Given the description of an element on the screen output the (x, y) to click on. 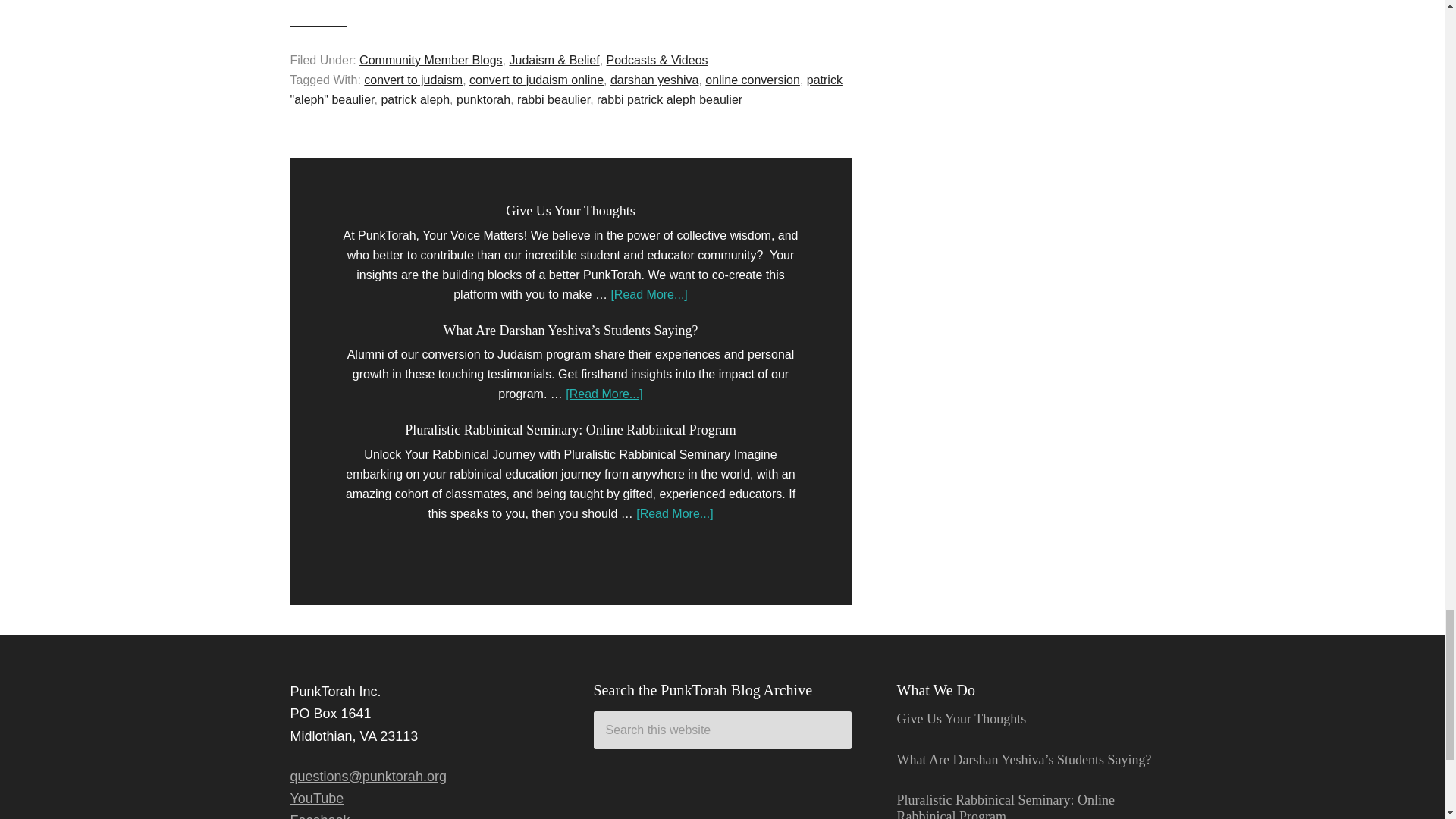
Pluralistic Rabbinical Seminary: Online Rabbinical Program (1004, 805)
Give Us Your Thoughts (569, 210)
punktorah (484, 99)
online conversion (751, 79)
patrick "aleph" beaulier (565, 89)
convert to judaism online (536, 79)
Pluralistic Rabbinical Seminary: Online Rabbinical Program (569, 429)
Community Member Blogs (430, 60)
rabbi beaulier (552, 99)
darshan yeshiva (654, 79)
YouTube (316, 798)
convert to judaism (413, 79)
Give Us Your Thoughts (961, 718)
